Given the description of an element on the screen output the (x, y) to click on. 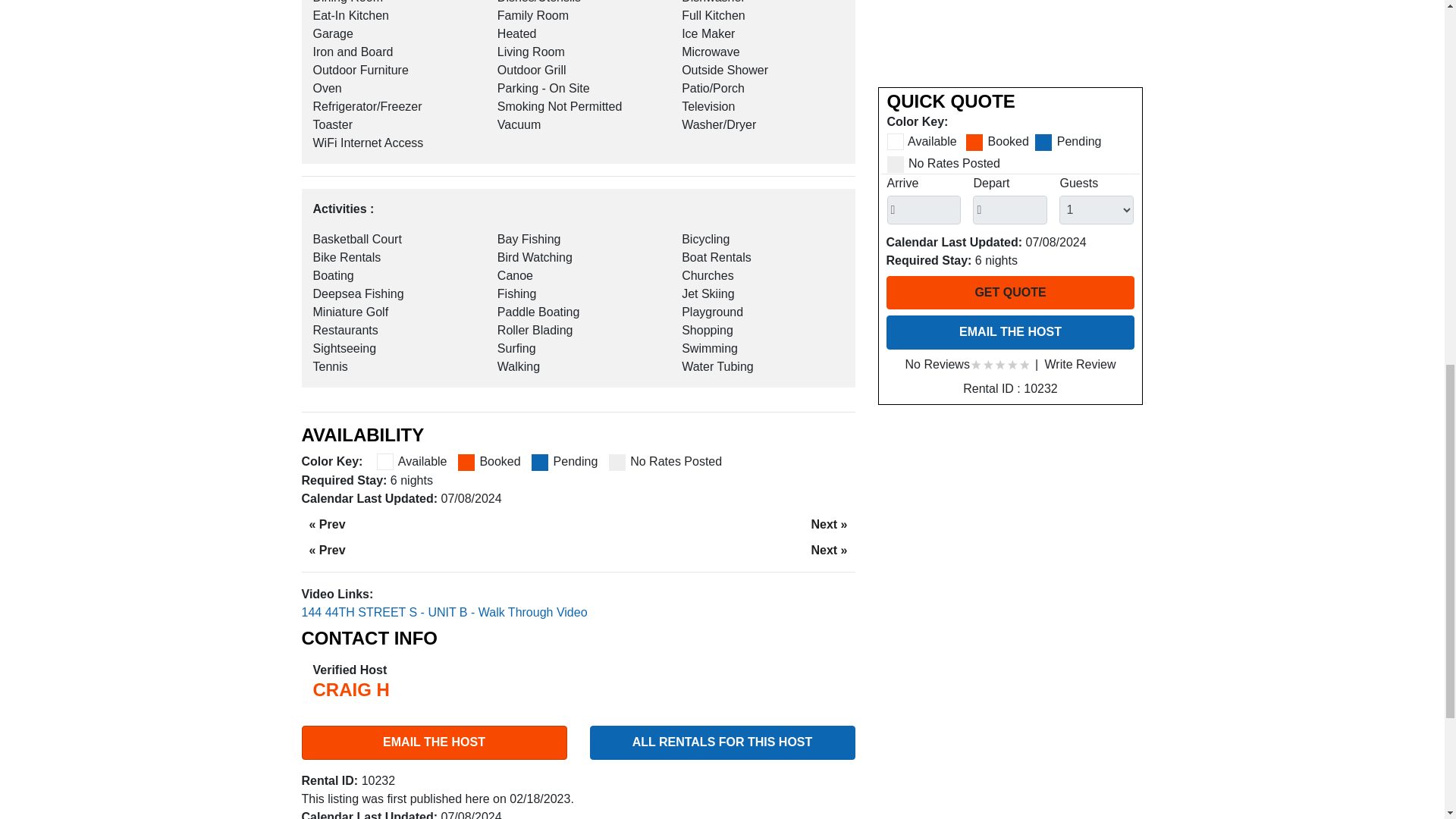
144 44TH STREET S - UNIT B - Walk Through Video (444, 612)
ALL RENTALS FOR THIS HOST (722, 742)
EMAIL THE HOST (434, 742)
